Given the description of an element on the screen output the (x, y) to click on. 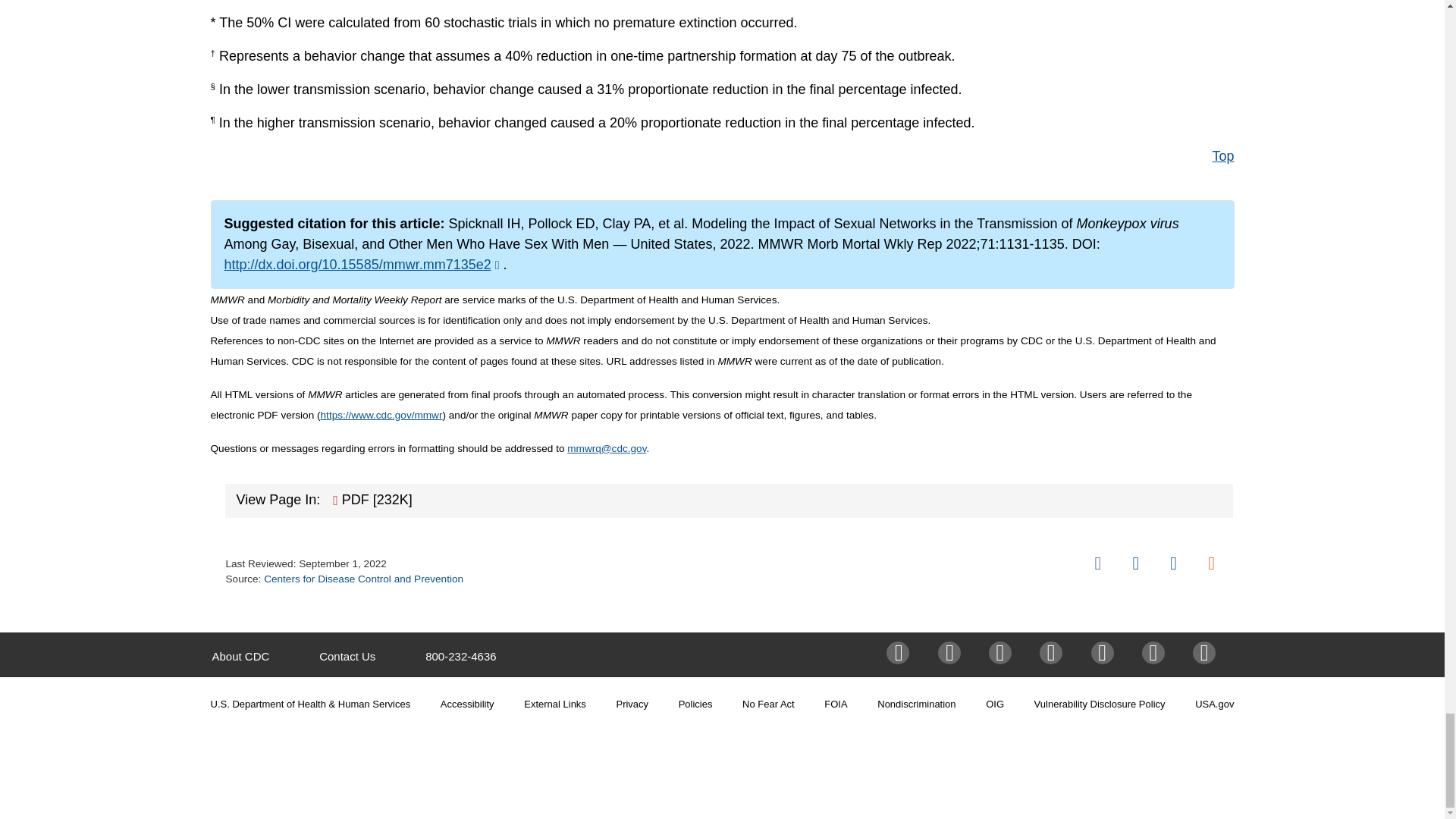
Share to Facebook (1097, 563)
Share to LinkedIn (1173, 563)
Embed this Page (1211, 563)
Share to Twitter (1135, 563)
